Given the description of an element on the screen output the (x, y) to click on. 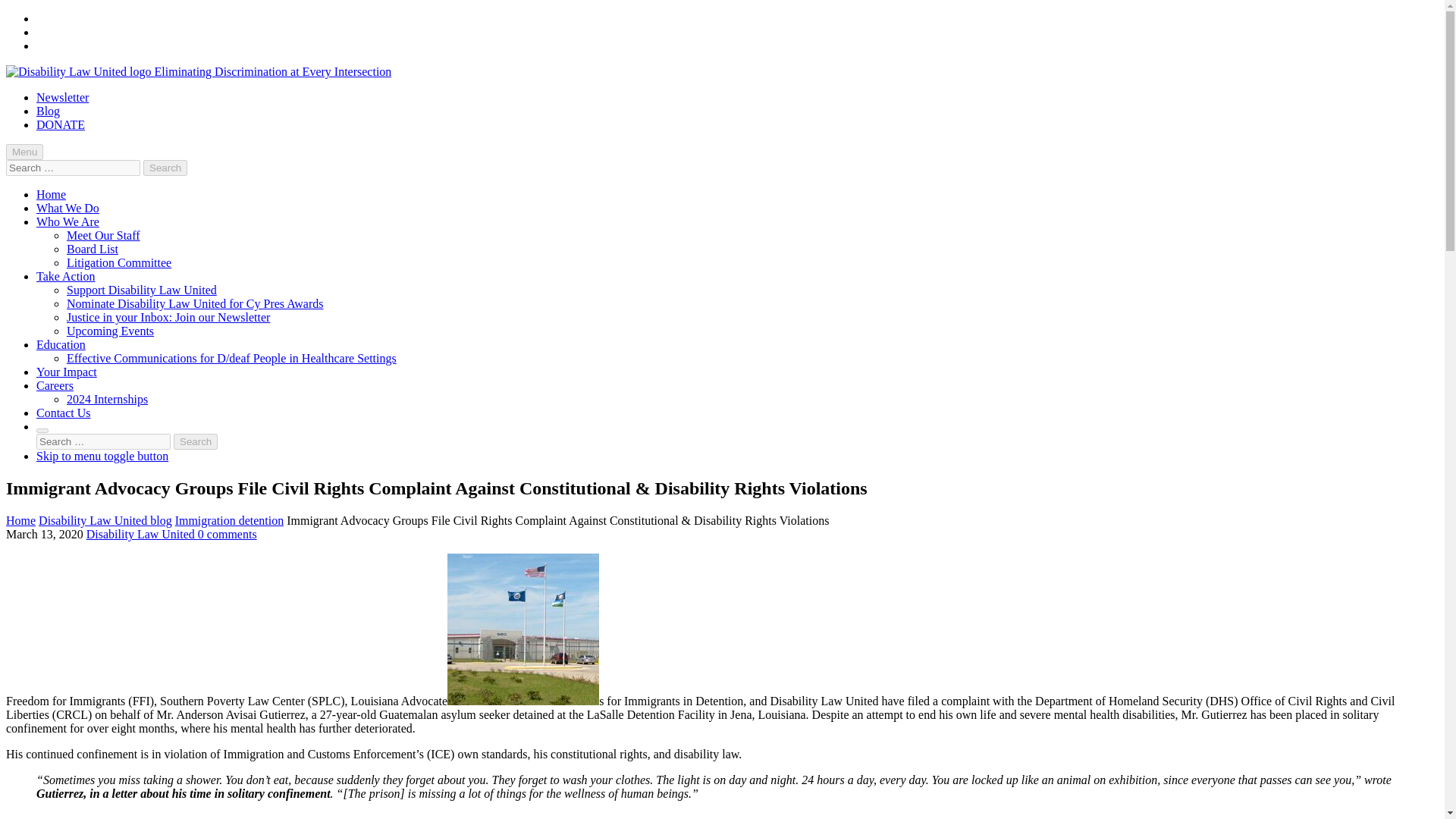
Go to Disability Law United blog. (105, 520)
Who We Are (67, 221)
Home (19, 520)
Justice in your Inbox: Join our Newsletter (167, 317)
Posted on: March 13, 2020 (45, 533)
Take Action (66, 276)
Immigration detention (228, 520)
Careers (55, 385)
2024 Internships (107, 399)
Your Impact (66, 371)
Newsletter (62, 97)
Litigation Committee (118, 262)
0 comments (227, 533)
Search (194, 441)
